Given the description of an element on the screen output the (x, y) to click on. 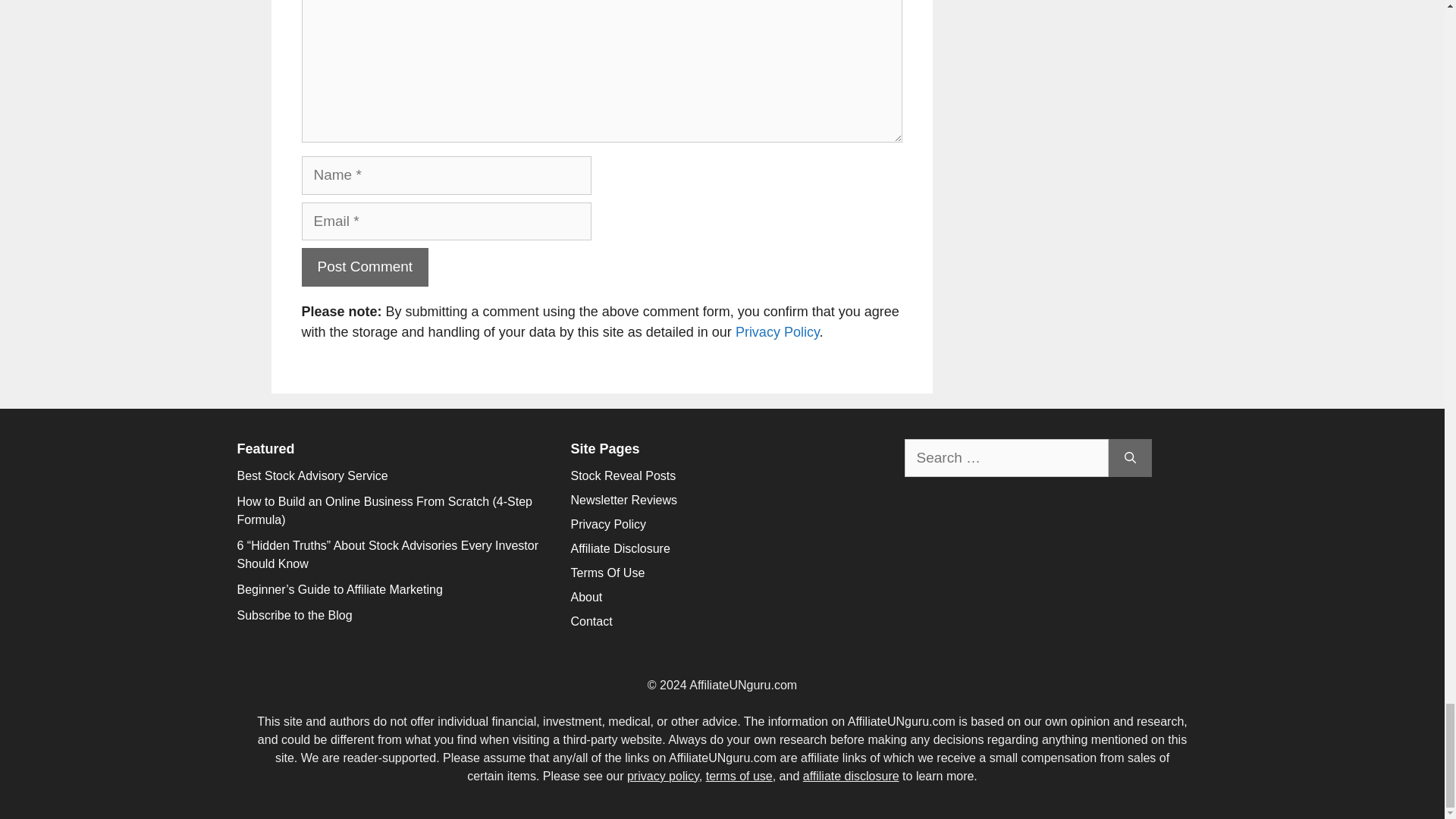
Search for: (1006, 457)
Post Comment (365, 267)
Best Stock Advisory Service (311, 475)
Subscribe to the Blog (293, 615)
Post Comment (365, 267)
Privacy Policy (777, 331)
Newsletter Reviews (623, 499)
Stock Reveal Posts (622, 475)
